Given the description of an element on the screen output the (x, y) to click on. 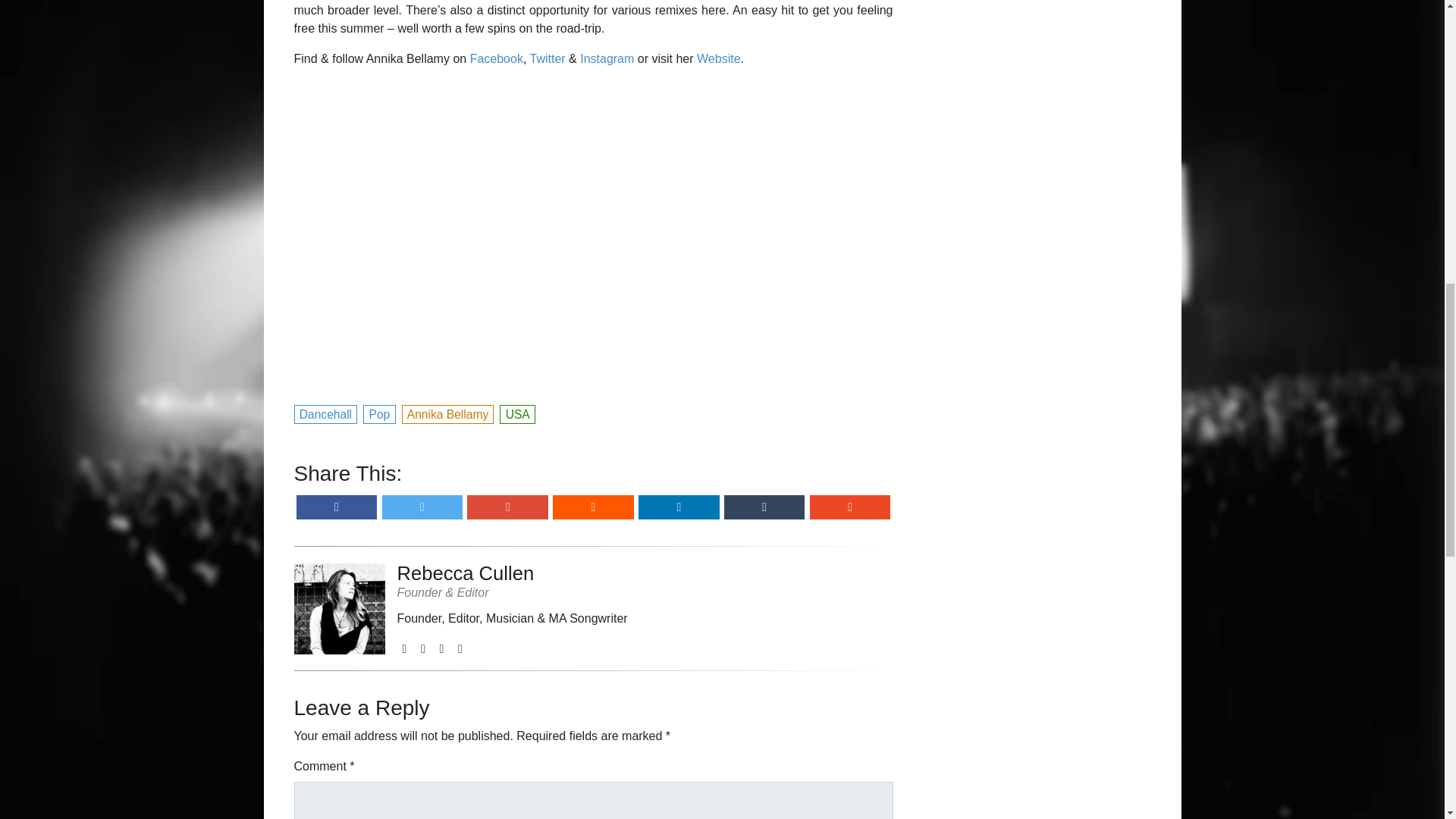
Website (719, 58)
Annika Bellamy (448, 412)
USA (517, 412)
Twitter (546, 58)
Dancehall (326, 412)
Facebook (496, 58)
Instagram (606, 58)
Pop (379, 412)
Rebecca Cullen (512, 573)
